Given the description of an element on the screen output the (x, y) to click on. 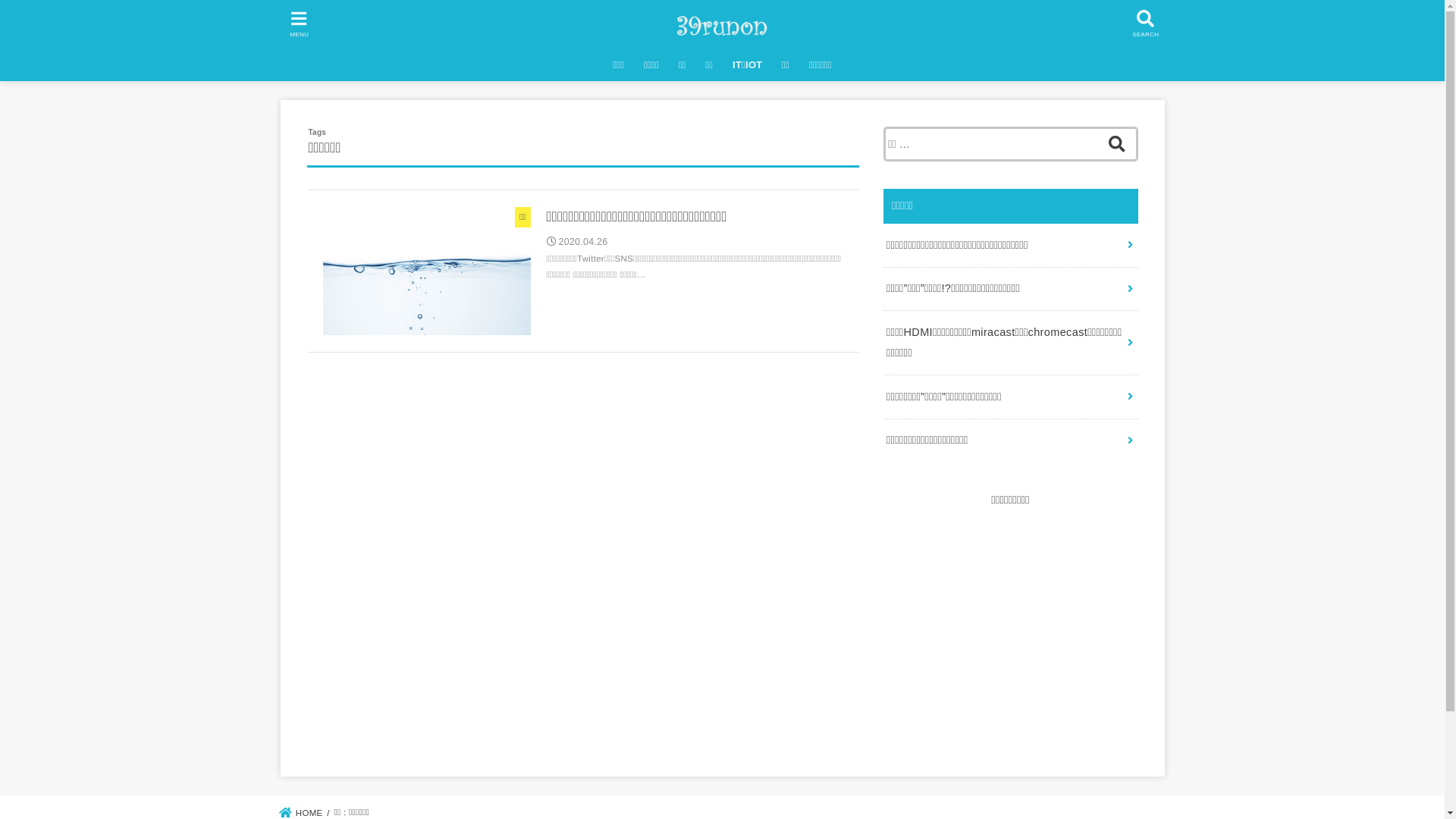
HOME Element type: text (301, 812)
SEARCH Element type: text (1145, 23)
MENU Element type: text (298, 23)
